Given the description of an element on the screen output the (x, y) to click on. 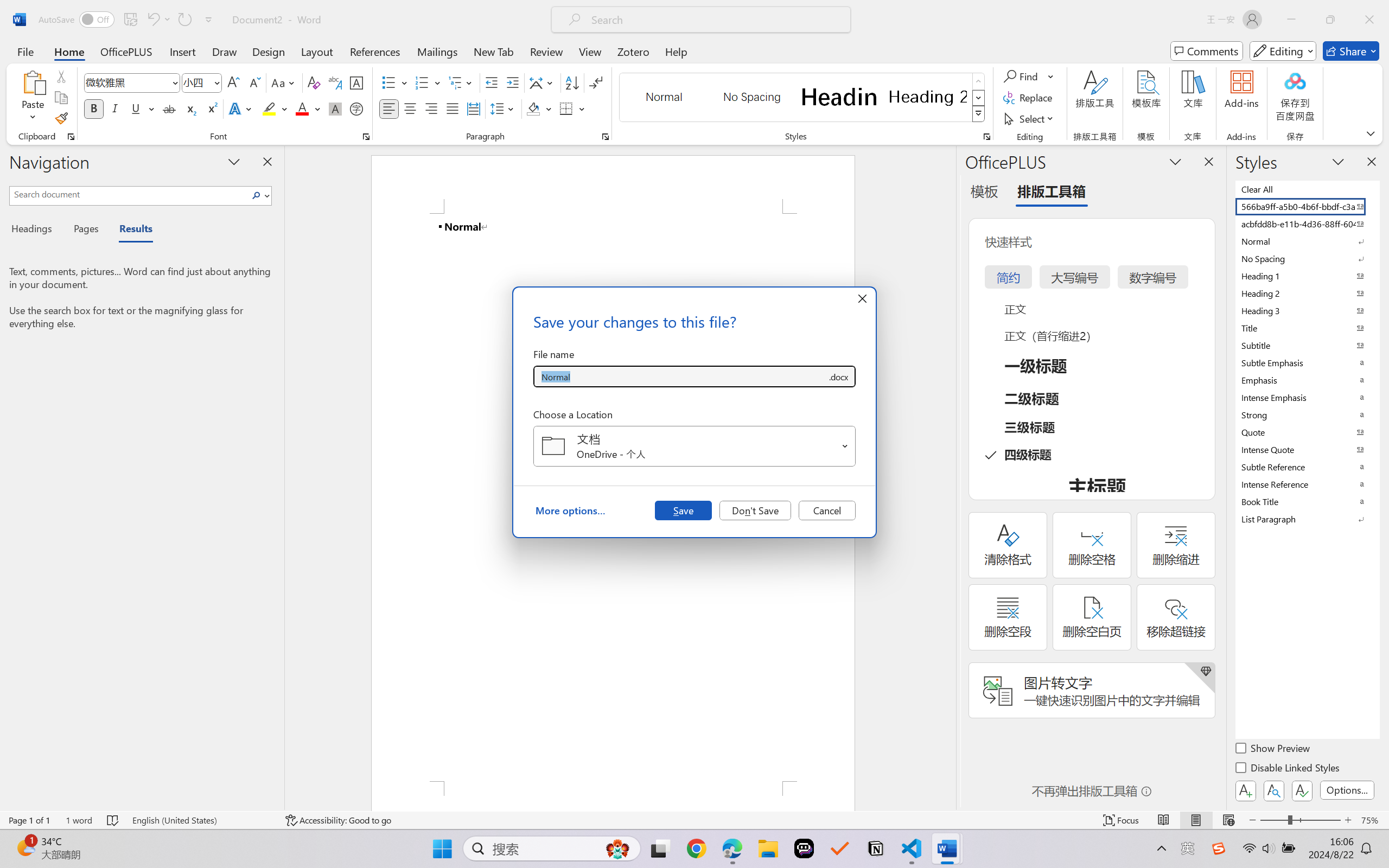
Restore Down (1330, 19)
Cancel (826, 509)
Character Border (356, 82)
Align Right (431, 108)
Disable Linked Styles (1287, 769)
Design (268, 51)
Microsoft search (715, 19)
Font Color Red (302, 108)
Page Number Page 1 of 1 (29, 819)
Underline (135, 108)
Shading (539, 108)
View (589, 51)
